Given the description of an element on the screen output the (x, y) to click on. 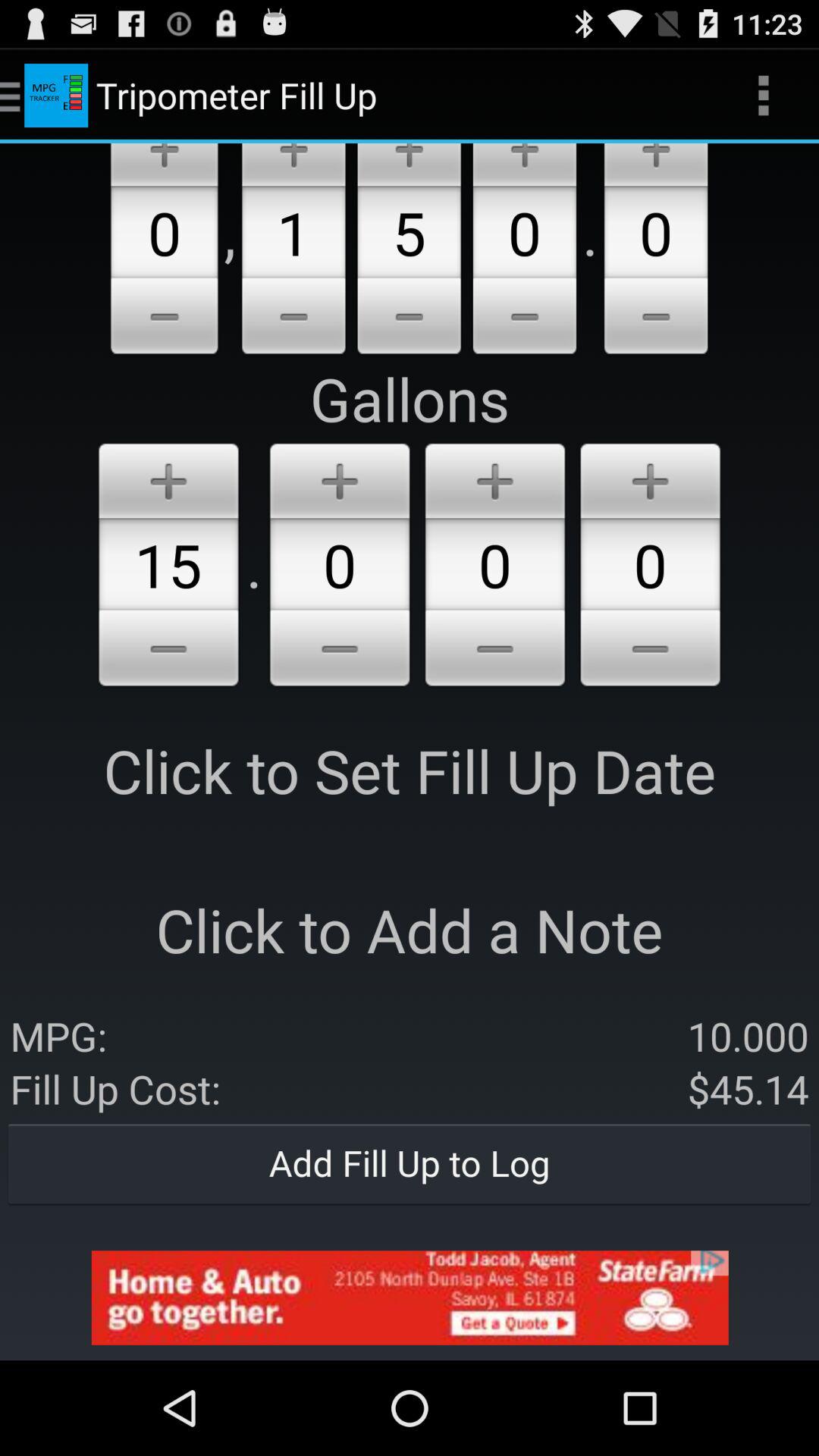
increase option (293, 164)
